Given the description of an element on the screen output the (x, y) to click on. 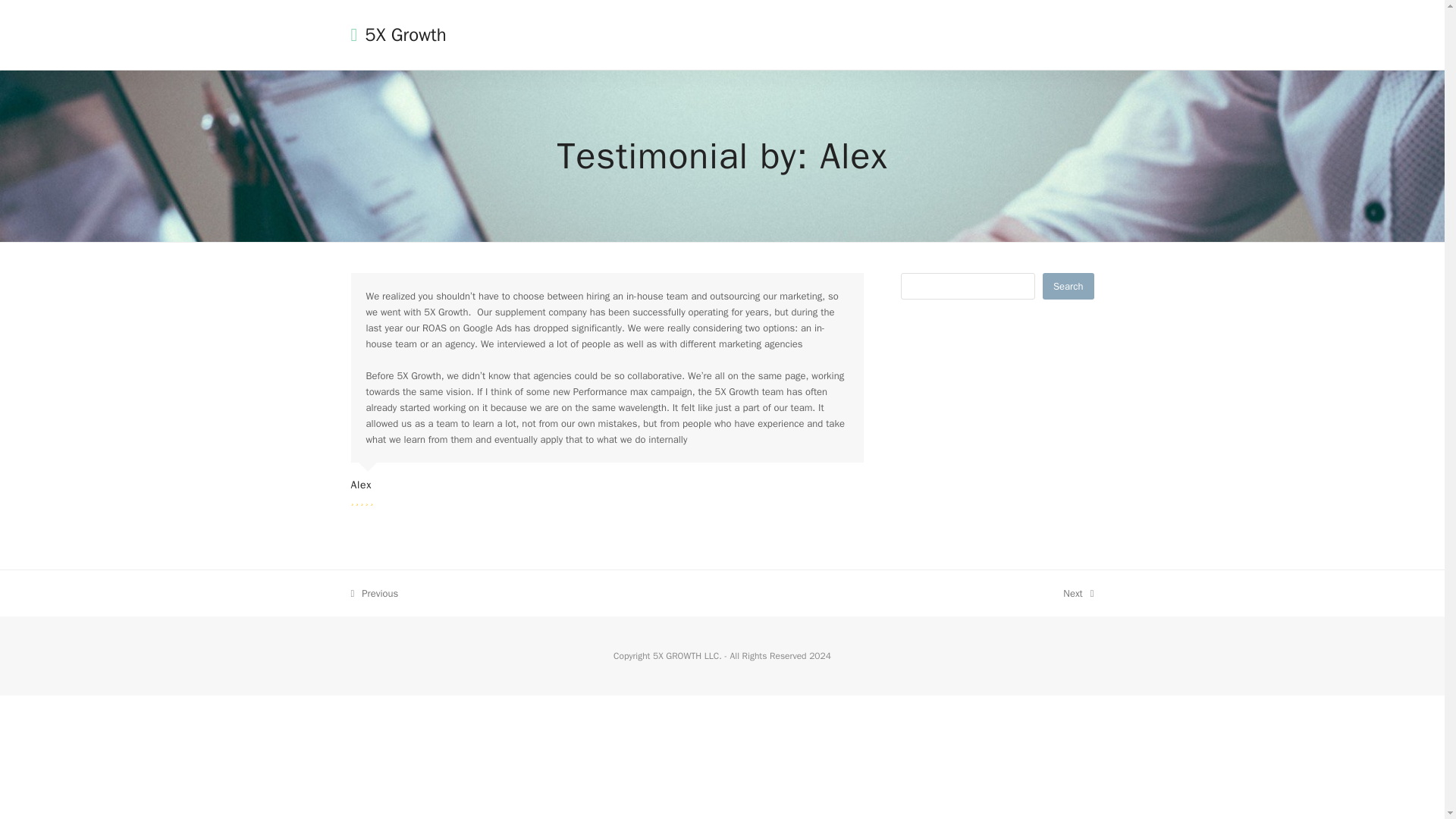
Search (1067, 285)
5X GROWTH LLC. (687, 655)
5X Growth (397, 34)
